Given the description of an element on the screen output the (x, y) to click on. 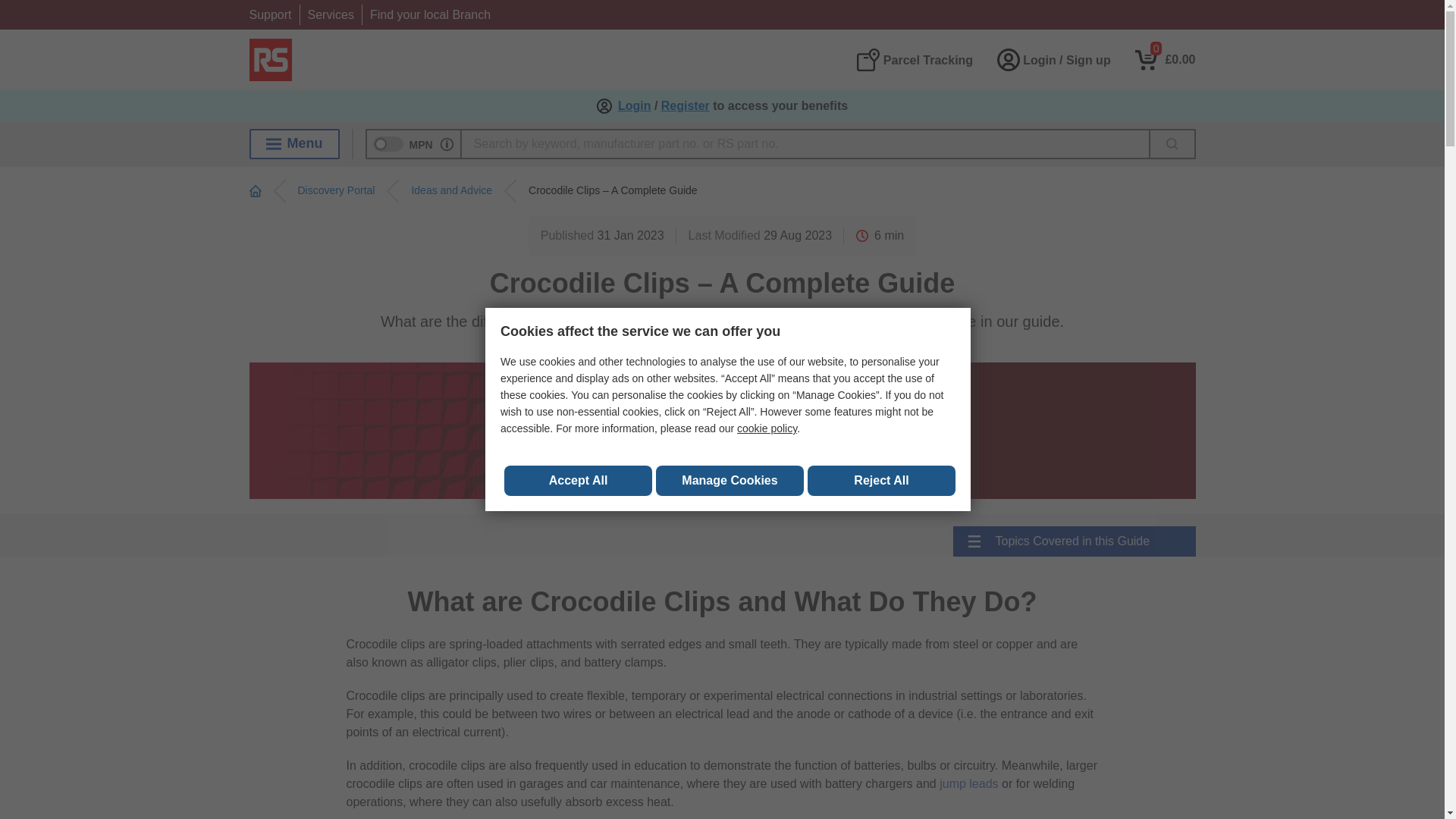
0 (1165, 59)
Login (633, 105)
Support (269, 14)
Parcel Tracking (914, 59)
Services (330, 14)
Find your local Branch (429, 14)
Menu (293, 143)
Register (685, 105)
